Given the description of an element on the screen output the (x, y) to click on. 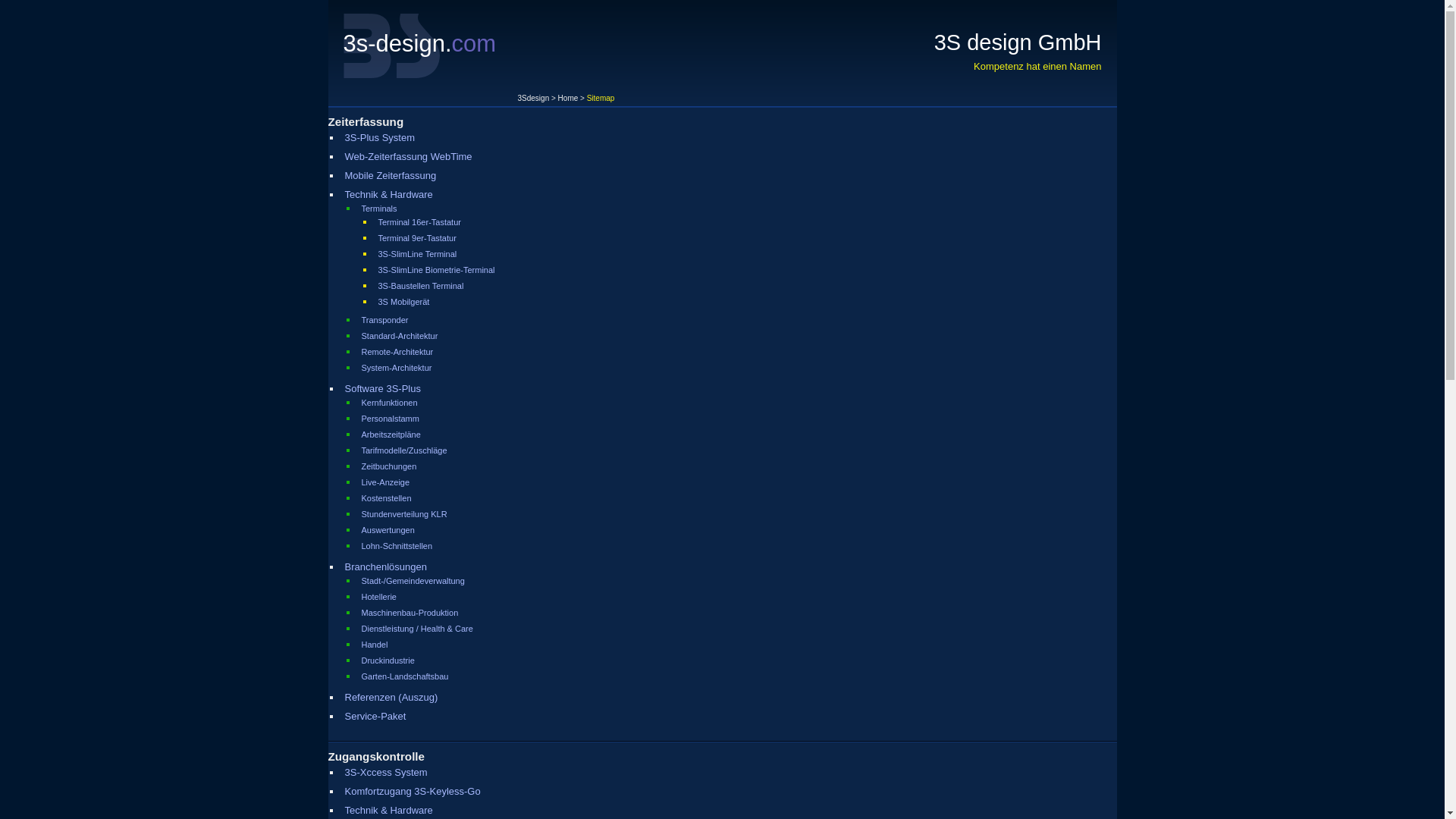
Mobile Zeiterfassung Element type: text (390, 175)
Kostenstellen Element type: text (385, 497)
Stadt-/Gemeindeverwaltung Element type: text (412, 580)
Terminal 9er-Tastatur Element type: text (416, 237)
Service-Paket Element type: text (374, 715)
Live-Anzeige Element type: text (384, 481)
3S-Plus System Element type: text (379, 137)
Druckindustrie Element type: text (387, 660)
Transponder Element type: text (383, 319)
Terminals Element type: text (378, 208)
Hotellerie Element type: text (377, 596)
Stundenverteilung KLR Element type: text (403, 513)
Terminal 16er-Tastatur Element type: text (418, 221)
Lohn-Schnittstellen Element type: text (396, 545)
Referenzen (Auszug) Element type: text (390, 696)
Web-Zeiterfassung WebTime Element type: text (407, 156)
Kernfunktionen Element type: text (388, 402)
3Sdesign Element type: text (533, 98)
3S-SlimLine Biometrie-Terminal Element type: text (435, 269)
Home Element type: text (568, 98)
Dienstleistung / Health & Care Element type: text (416, 628)
Software 3S-Plus Element type: text (382, 388)
Technik & Hardware Element type: text (388, 194)
Remote-Architektur Element type: text (396, 351)
Technik & Hardware Element type: text (388, 809)
Komfortzugang 3S-Keyless-Go Element type: text (412, 791)
Garten-Landschaftsbau Element type: text (404, 675)
3S-Baustellen Terminal Element type: text (420, 285)
Maschinenbau-Produktion Element type: text (409, 612)
3S-Xccess System Element type: text (385, 772)
3S-SlimLine Terminal Element type: text (416, 253)
Handel Element type: text (373, 644)
Auswertungen Element type: text (387, 529)
Personalstamm Element type: text (389, 418)
Standard-Architektur Element type: text (398, 335)
System-Architektur Element type: text (395, 367)
Zeitbuchungen Element type: text (388, 465)
